Given the description of an element on the screen output the (x, y) to click on. 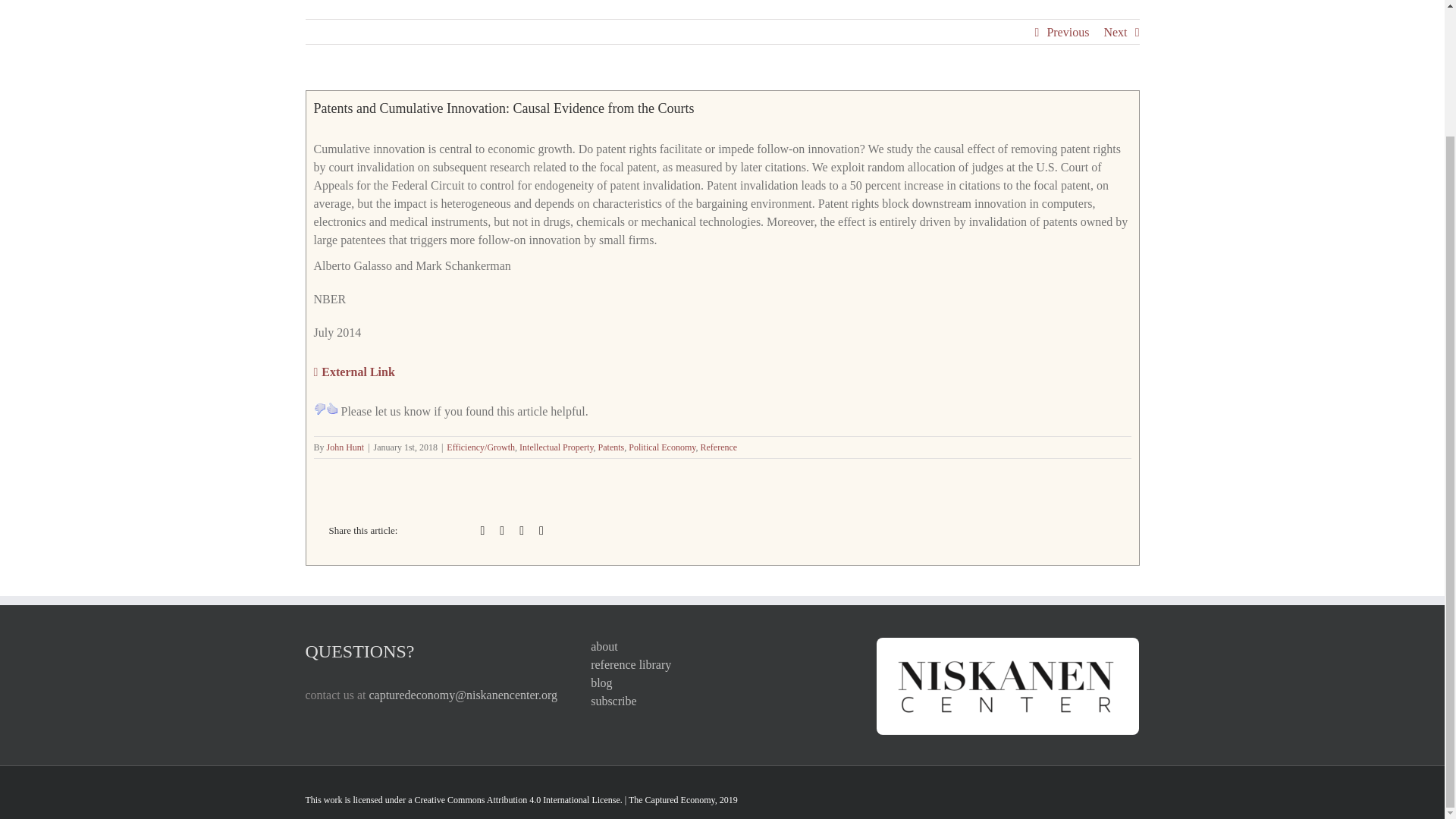
Next (1114, 32)
Reference (719, 447)
blog (722, 683)
Previous (1067, 32)
reference library (722, 665)
John Hunt (345, 447)
Intellectual Property (556, 447)
subscribe (722, 701)
Political Economy (661, 447)
